Given the description of an element on the screen output the (x, y) to click on. 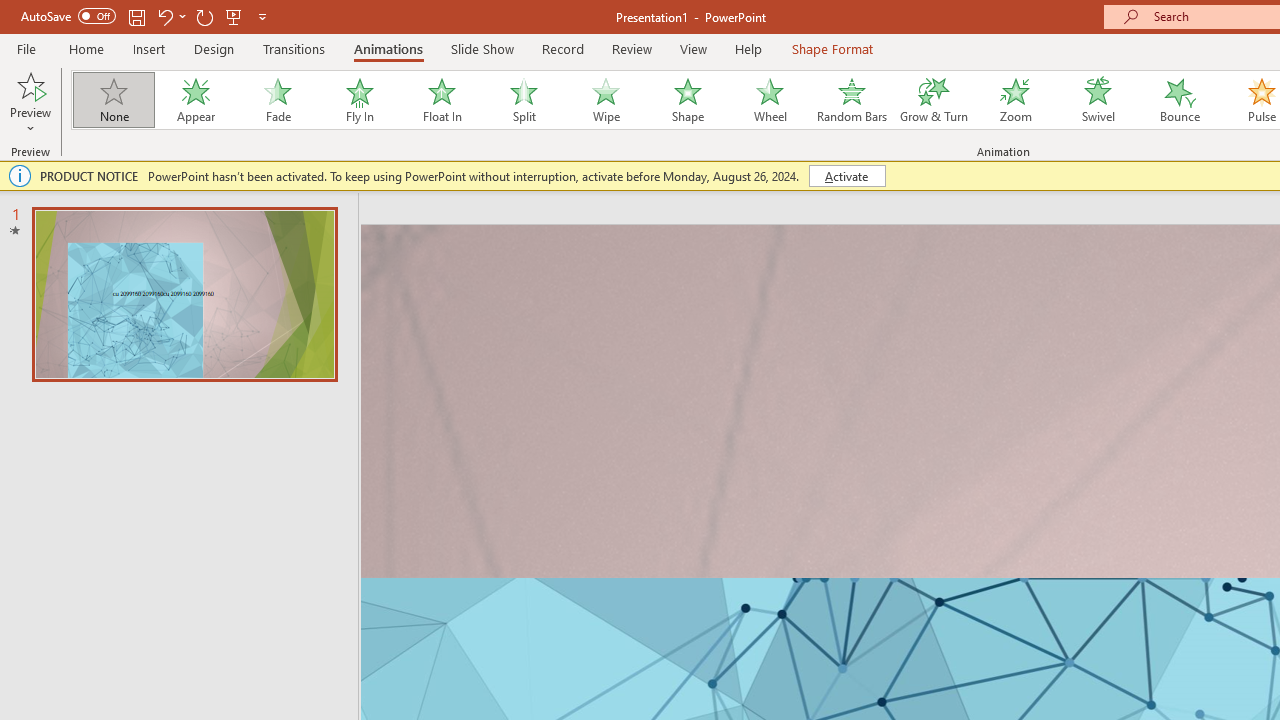
Random Bars (852, 100)
Float In (441, 100)
Swivel (1098, 100)
Split (523, 100)
Wipe (605, 100)
Fly In (359, 100)
